Given the description of an element on the screen output the (x, y) to click on. 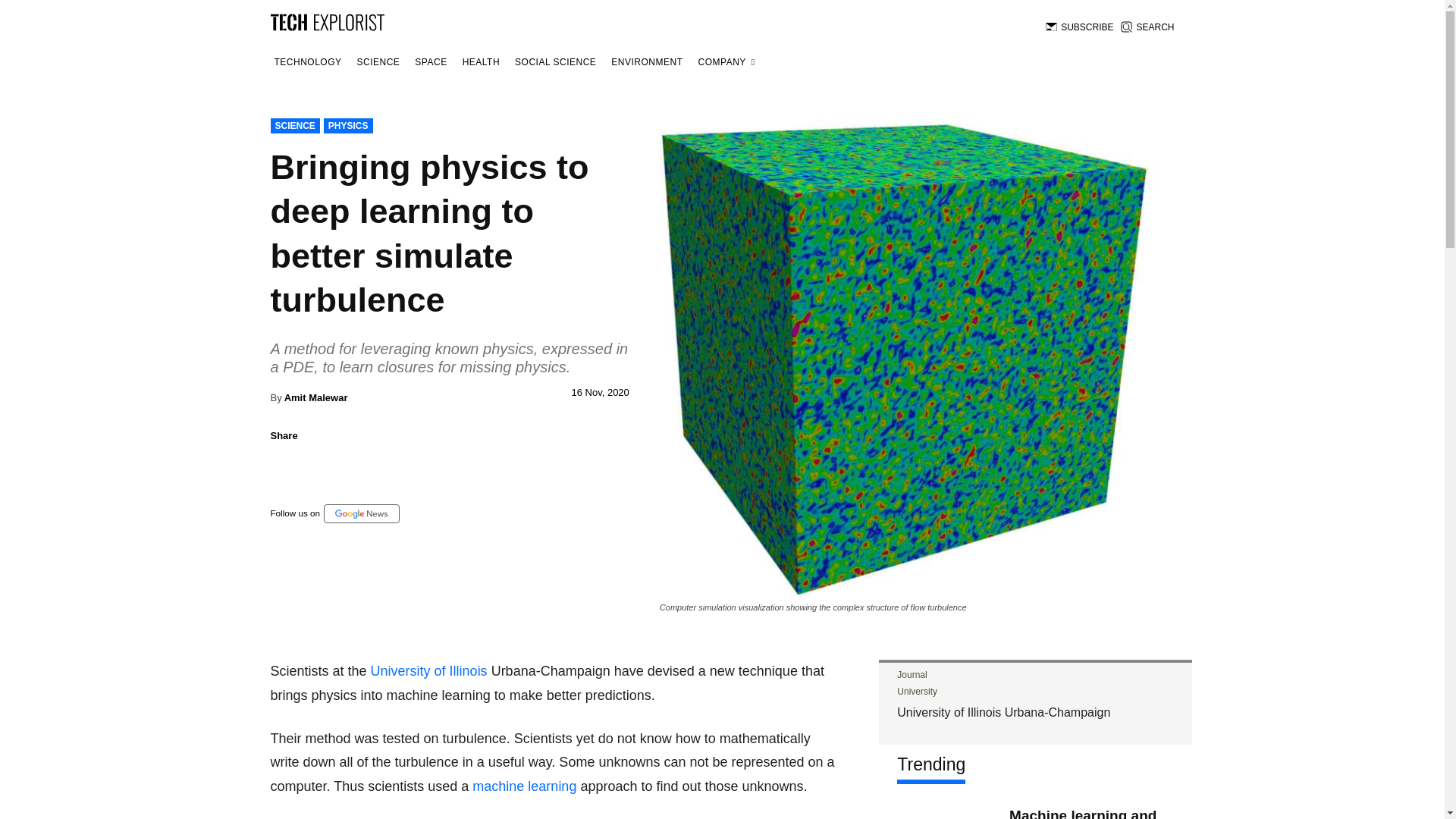
University of Illinois (429, 670)
TECHNOLOGY (307, 62)
COMPANY (726, 62)
SUBSCRIBE (1079, 26)
Amit Malewar (315, 397)
Machine learning and multiple sclerosis progression (945, 809)
ENVIRONMENT (646, 62)
Tech Explorist (326, 21)
PHYSICS (347, 125)
